Given the description of an element on the screen output the (x, y) to click on. 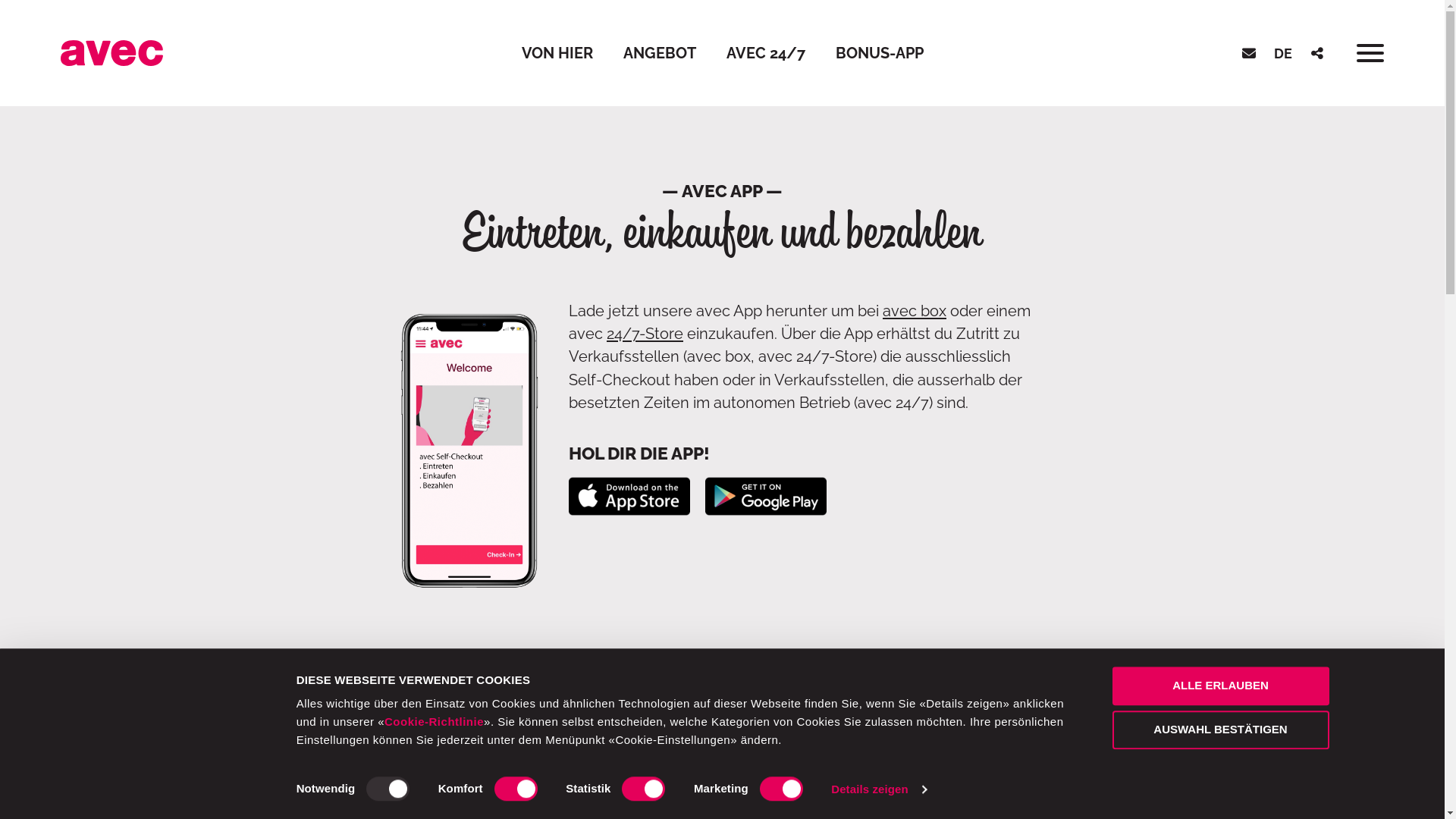
BONUS-APP Element type: text (879, 52)
VON HIER Element type: text (557, 52)
24/7-Store Element type: text (644, 333)
ANGEBOT Element type: text (659, 52)
Details zeigen Element type: text (878, 789)
avec box Element type: text (914, 310)
AVEC 24/7 Element type: text (765, 52)
Cookie-Richtlinie Element type: text (433, 721)
DE Element type: text (1283, 52)
ALLE ERLAUBEN Element type: text (1219, 685)
